Given the description of an element on the screen output the (x, y) to click on. 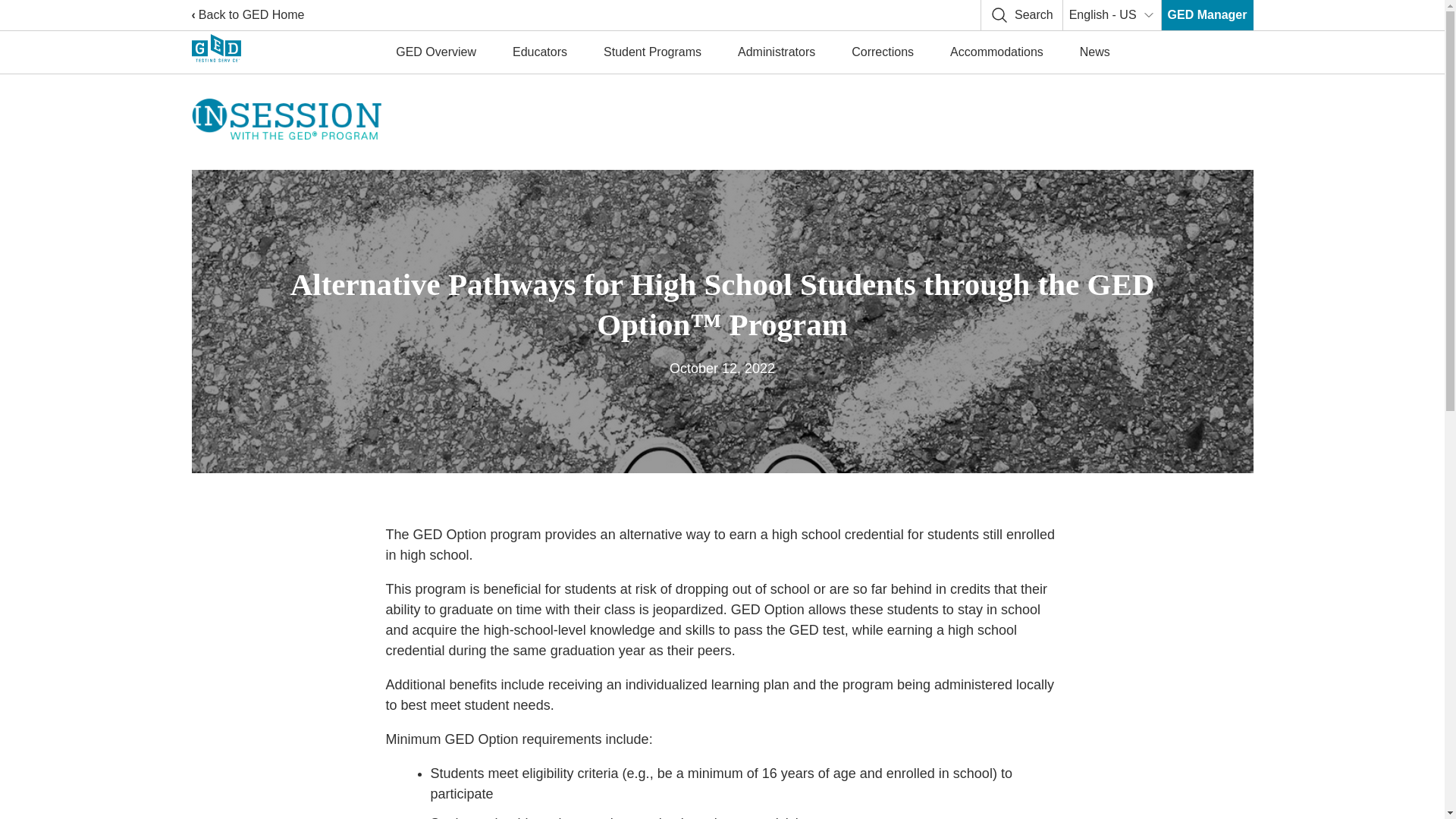
English - US (1111, 14)
Administrators (775, 52)
Back to GED Home (247, 14)
GED Manager (1207, 15)
GED Overview (436, 52)
Search (1021, 14)
Educators (539, 52)
Student Programs (652, 52)
